Given the description of an element on the screen output the (x, y) to click on. 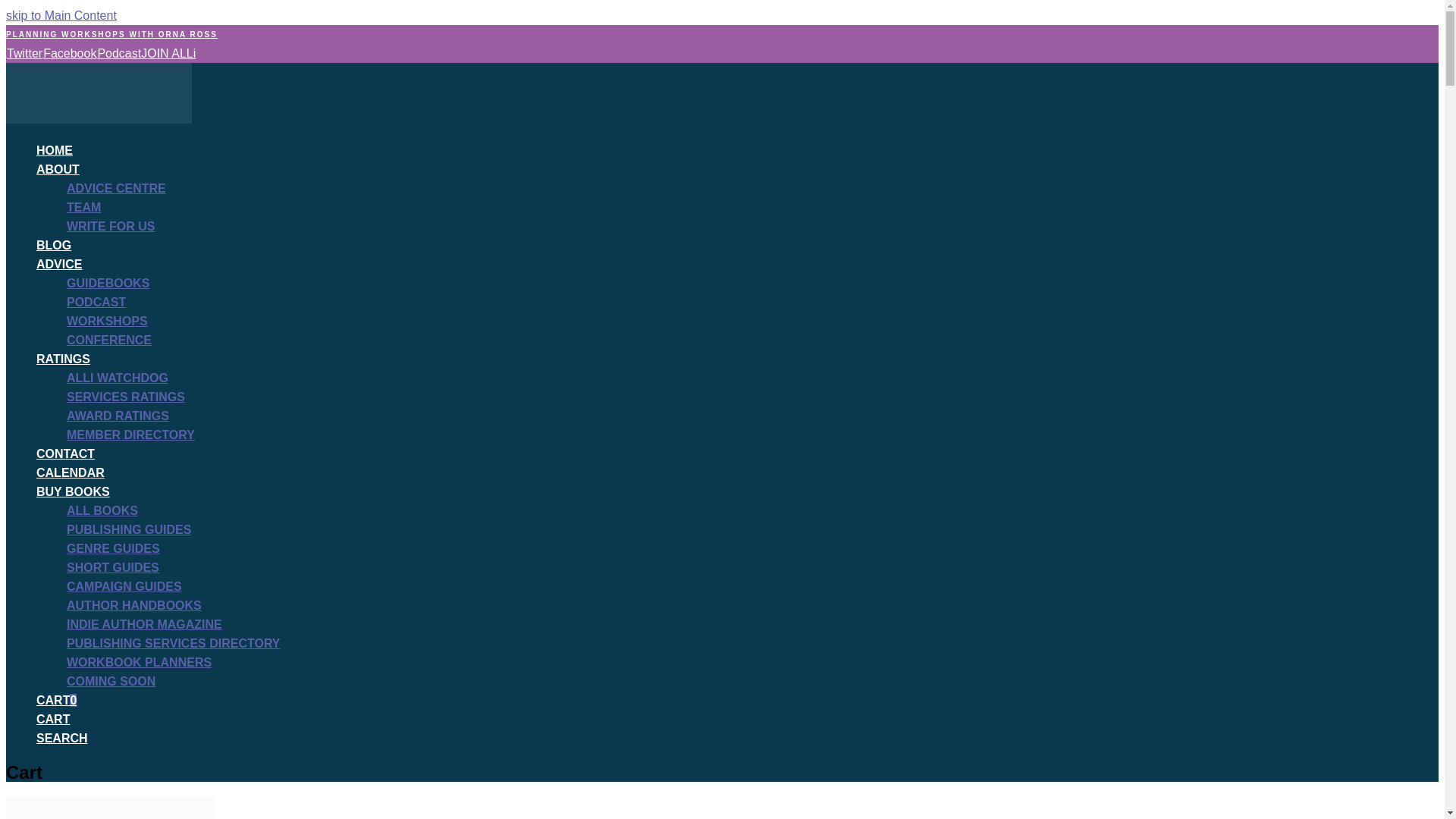
PODCAST (95, 301)
PLANNING WORKSHOPS WITH ORNA ROSS (110, 34)
CALENDAR (70, 472)
ADVICE (58, 264)
WRITE FOR US (110, 226)
PUBLISHING GUIDES (128, 529)
HOME (54, 150)
CONTACT (65, 453)
SHORT GUIDES (112, 567)
SERVICES RATINGS (125, 396)
WORKBOOK PLANNERS (138, 662)
AUTHOR HANDBOOKS (134, 604)
Join ALLi (168, 52)
Podcast (118, 52)
Twitter (23, 52)
